Given the description of an element on the screen output the (x, y) to click on. 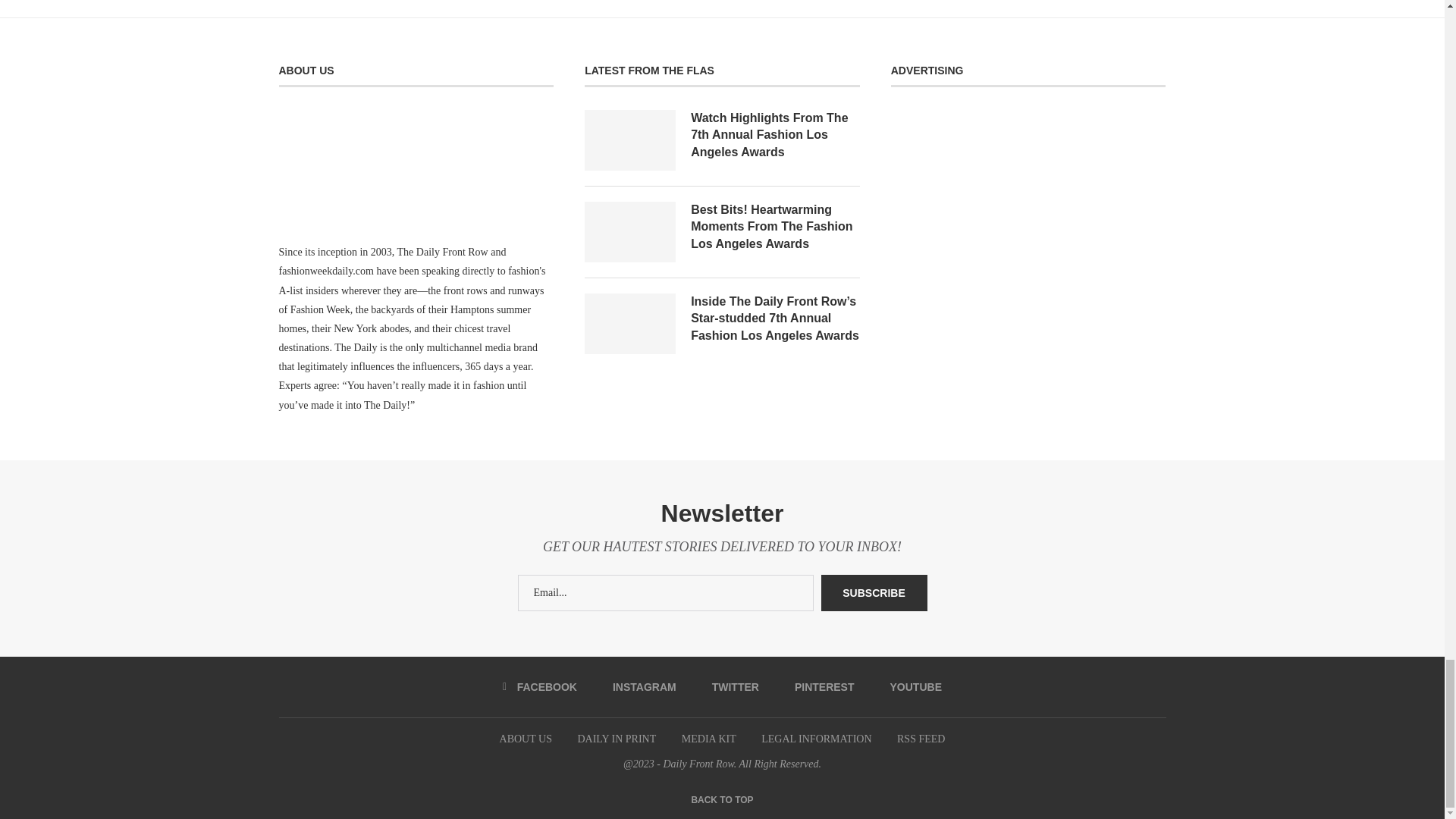
Subscribe (873, 592)
